Given the description of an element on the screen output the (x, y) to click on. 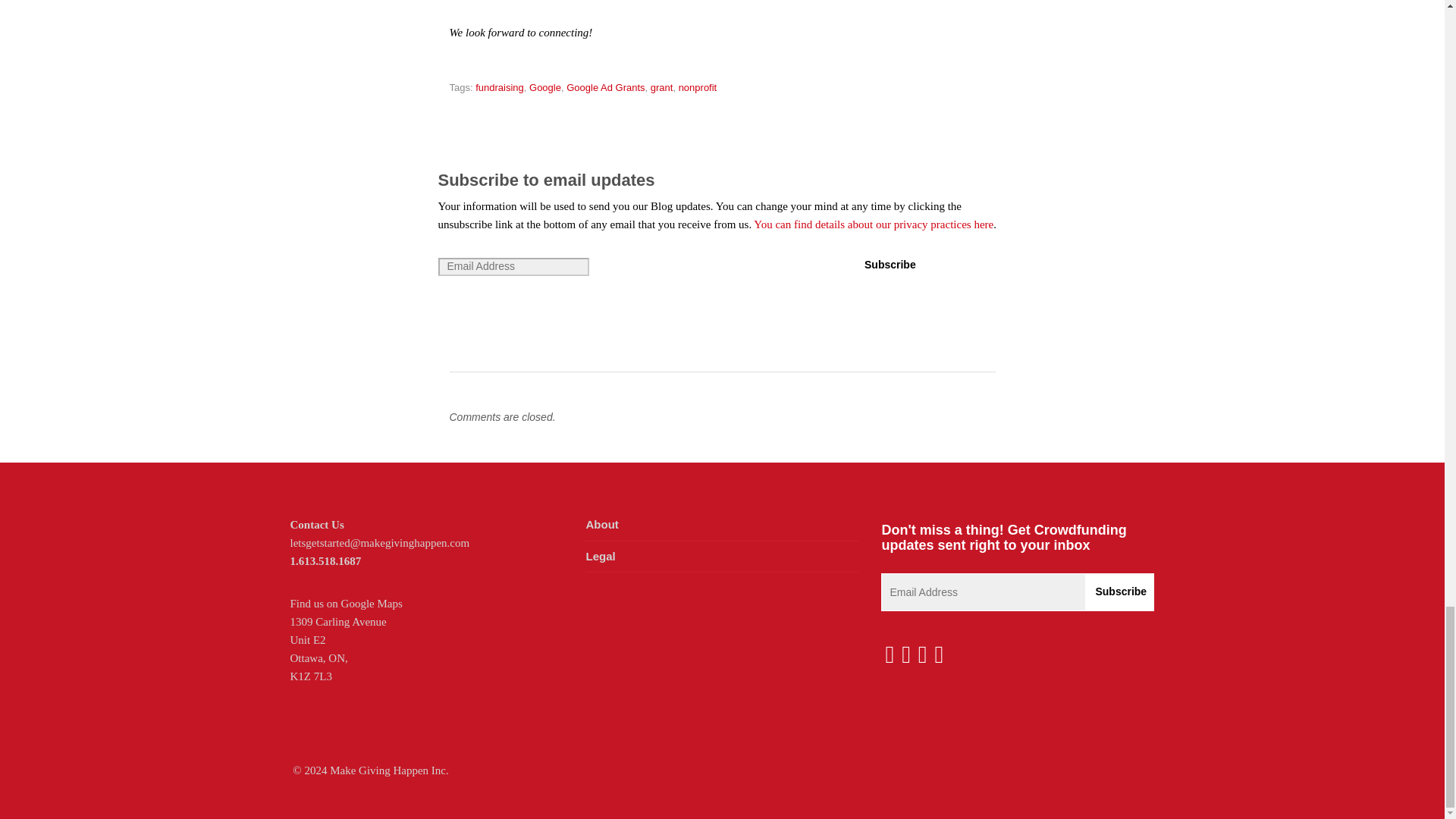
Google (544, 87)
grant (661, 87)
fundraising (500, 87)
Subscribe (889, 264)
You can find details about our privacy practices here (873, 224)
Subscribe (889, 264)
nonprofit (697, 87)
Google Ad Grants (605, 87)
Subscribe (1120, 591)
Legal (599, 555)
About (601, 523)
Subscribe (1120, 591)
